Given the description of an element on the screen output the (x, y) to click on. 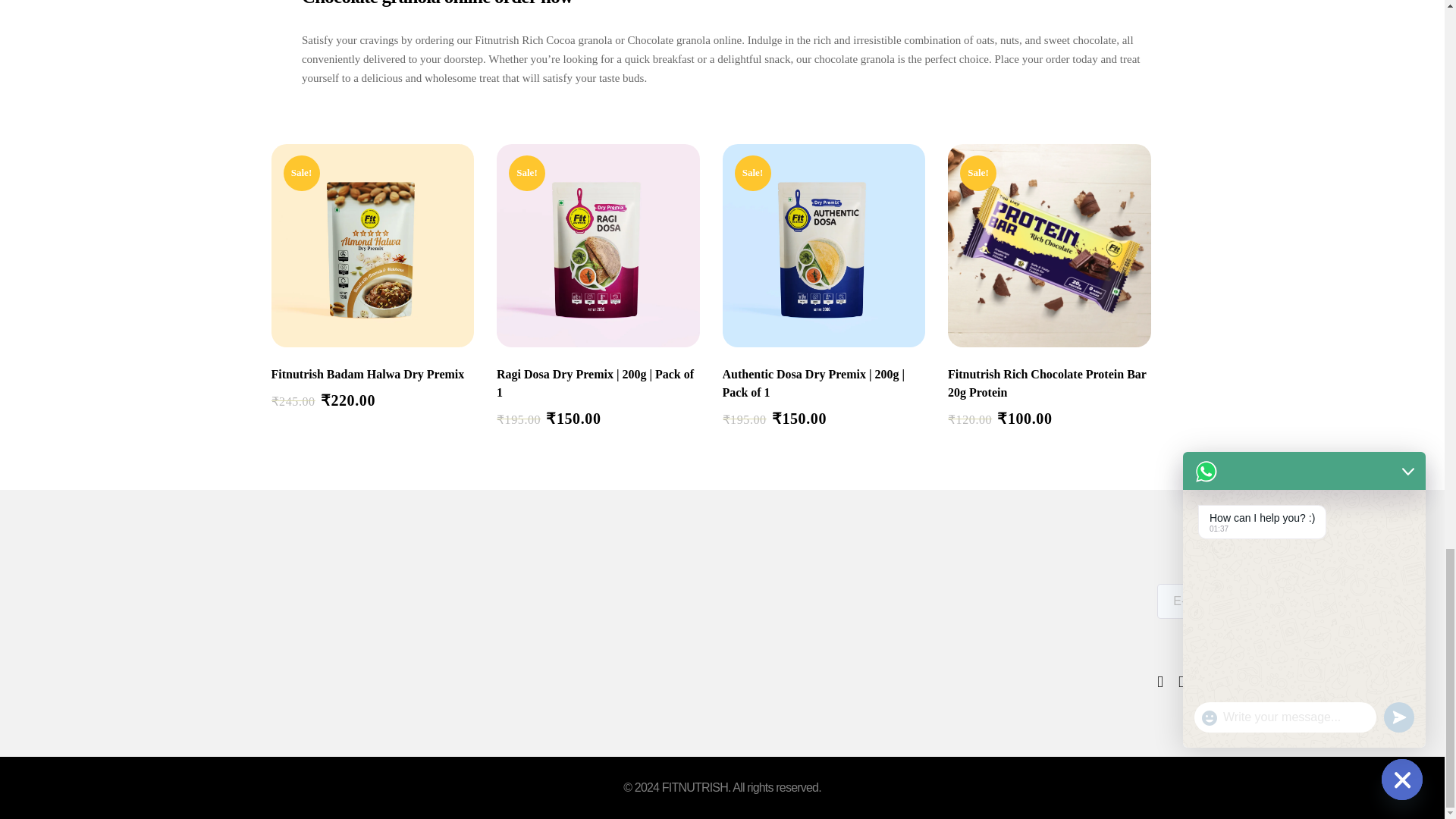
Sale! (1049, 245)
Fitnutrish Badam Halwa Dry Premix (372, 374)
Sale! (372, 245)
Sale! (823, 245)
Sale! (598, 245)
